Given the description of an element on the screen output the (x, y) to click on. 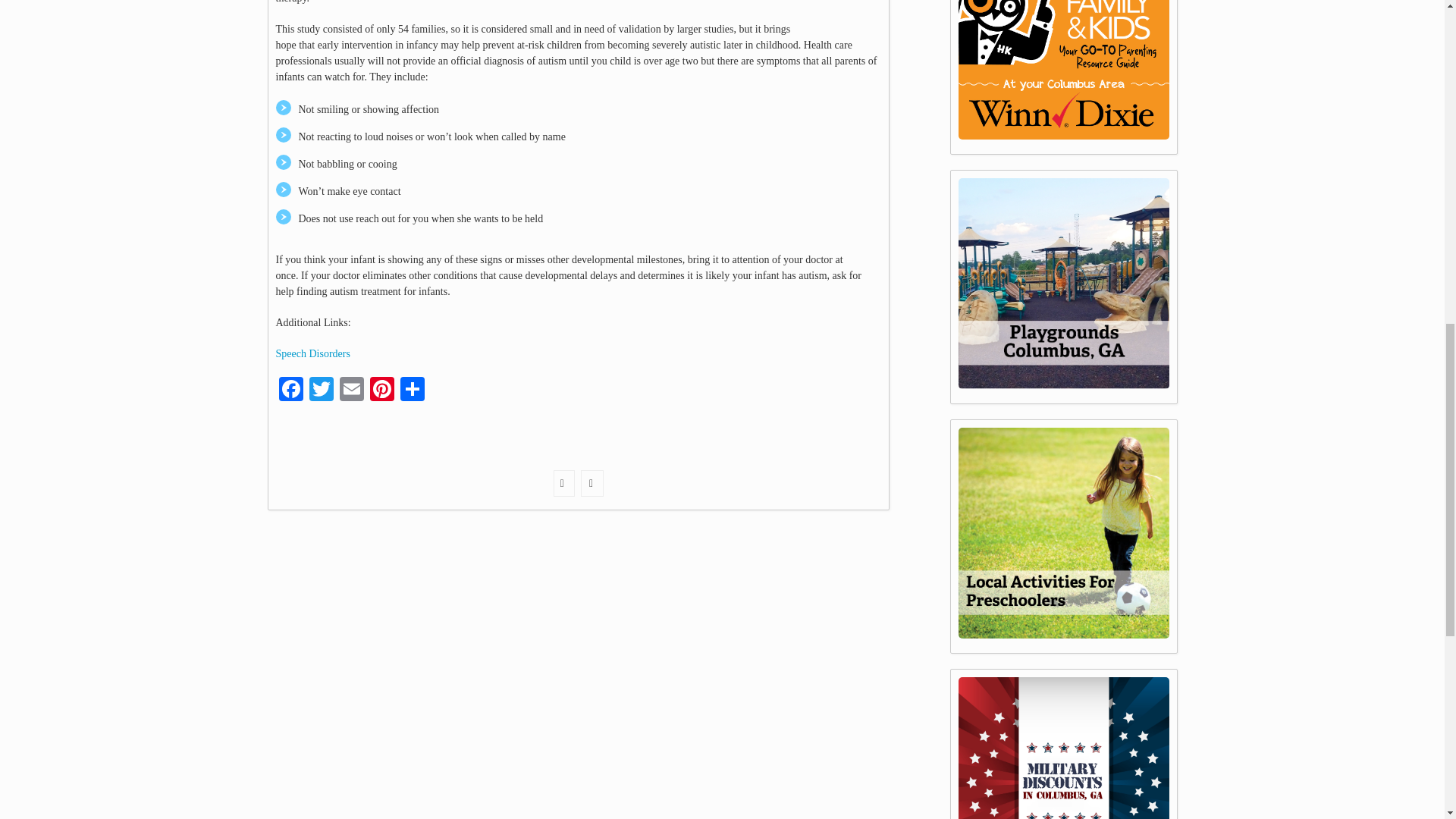
Twitter (320, 390)
Facebook (290, 390)
Email (351, 390)
Pinterest (381, 390)
